Given the description of an element on the screen output the (x, y) to click on. 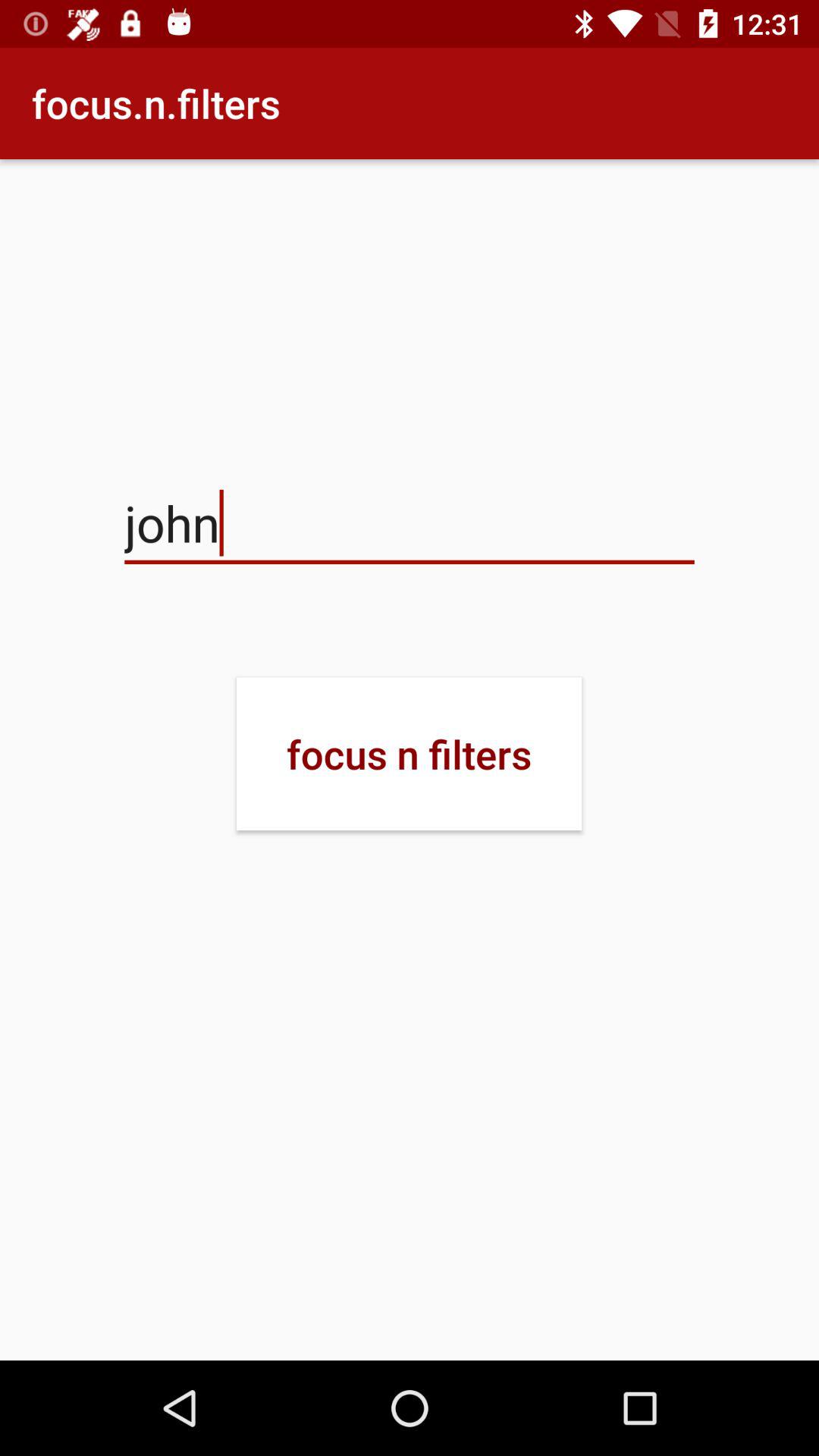
select icon above focus n filters (409, 523)
